Given the description of an element on the screen output the (x, y) to click on. 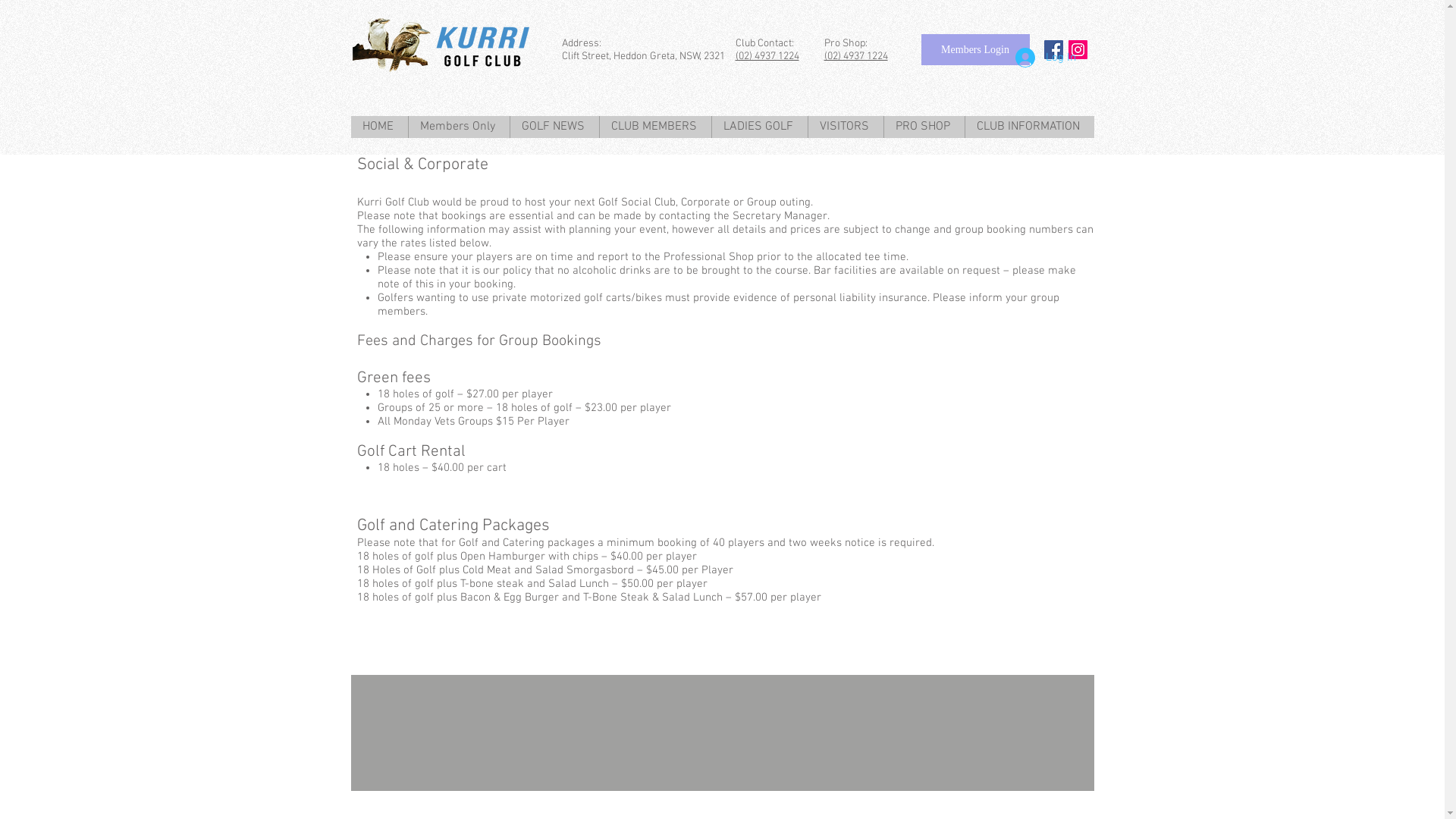
Members Login Element type: text (974, 49)
LADIES GOLF Element type: text (759, 127)
(02) 4937 1224 Element type: text (767, 56)
Log In Element type: text (1044, 57)
HOME Element type: text (378, 127)
